Given the description of an element on the screen output the (x, y) to click on. 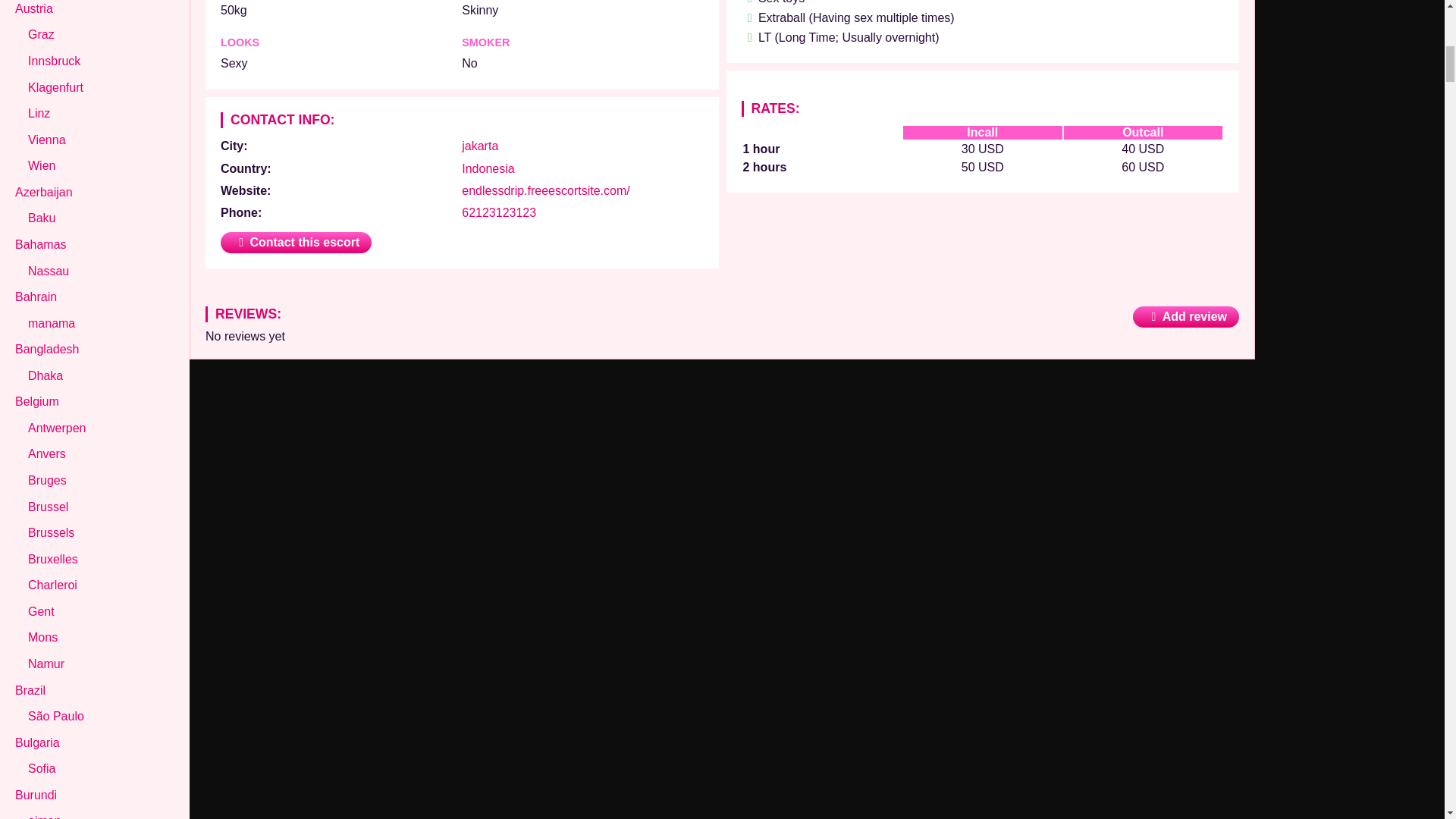
jakarta (479, 145)
62123123123 (498, 212)
Indonesia (487, 168)
jakarta (479, 145)
Indonesia (487, 168)
